Given the description of an element on the screen output the (x, y) to click on. 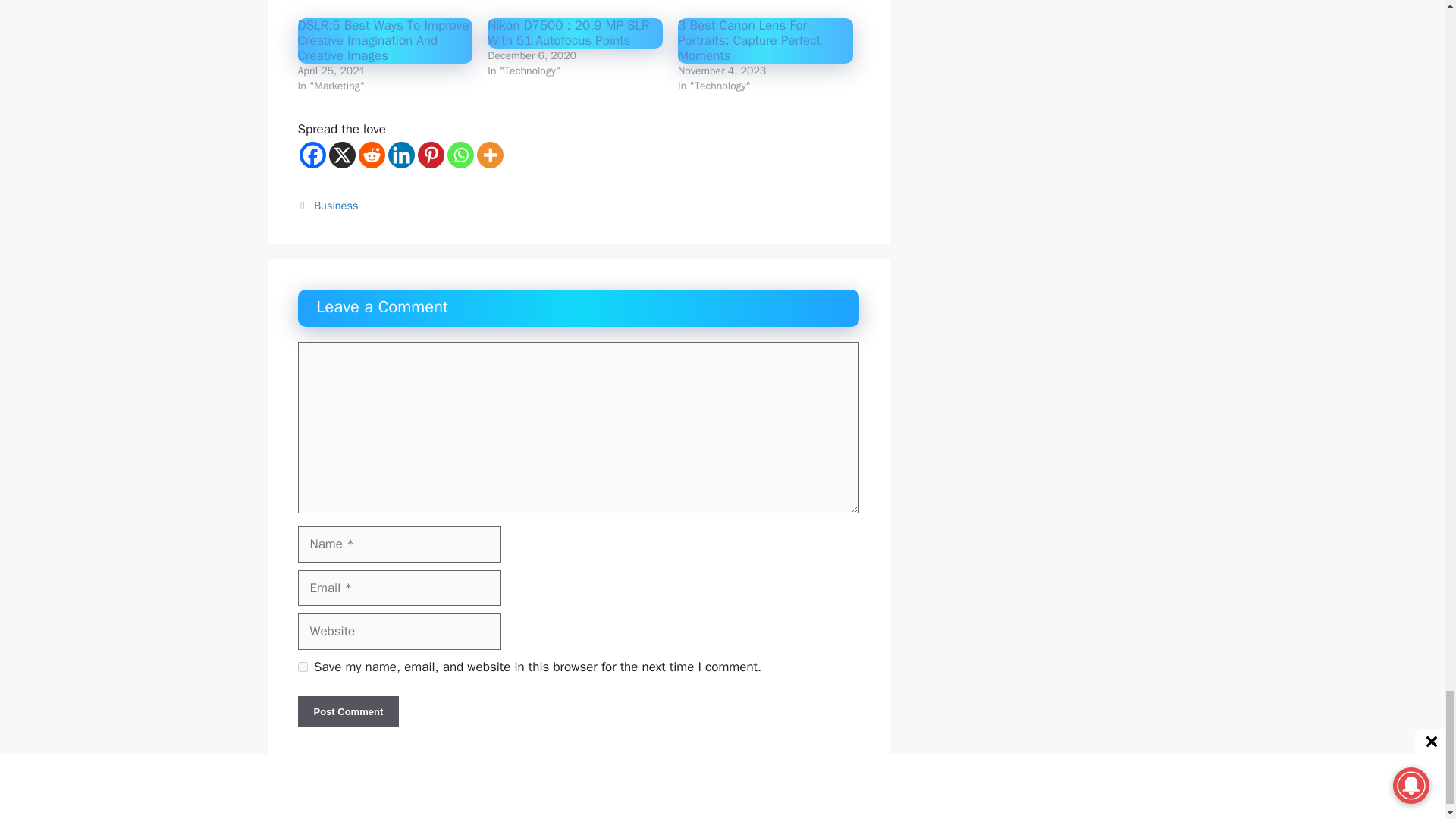
yes (302, 666)
Post Comment (347, 712)
Nikon D7500 : 20.9 MP SLR With 51 Autofocus Points (568, 32)
3 Best Canon Lens For Portraits: Capture Perfect Moments (749, 40)
